Given the description of an element on the screen output the (x, y) to click on. 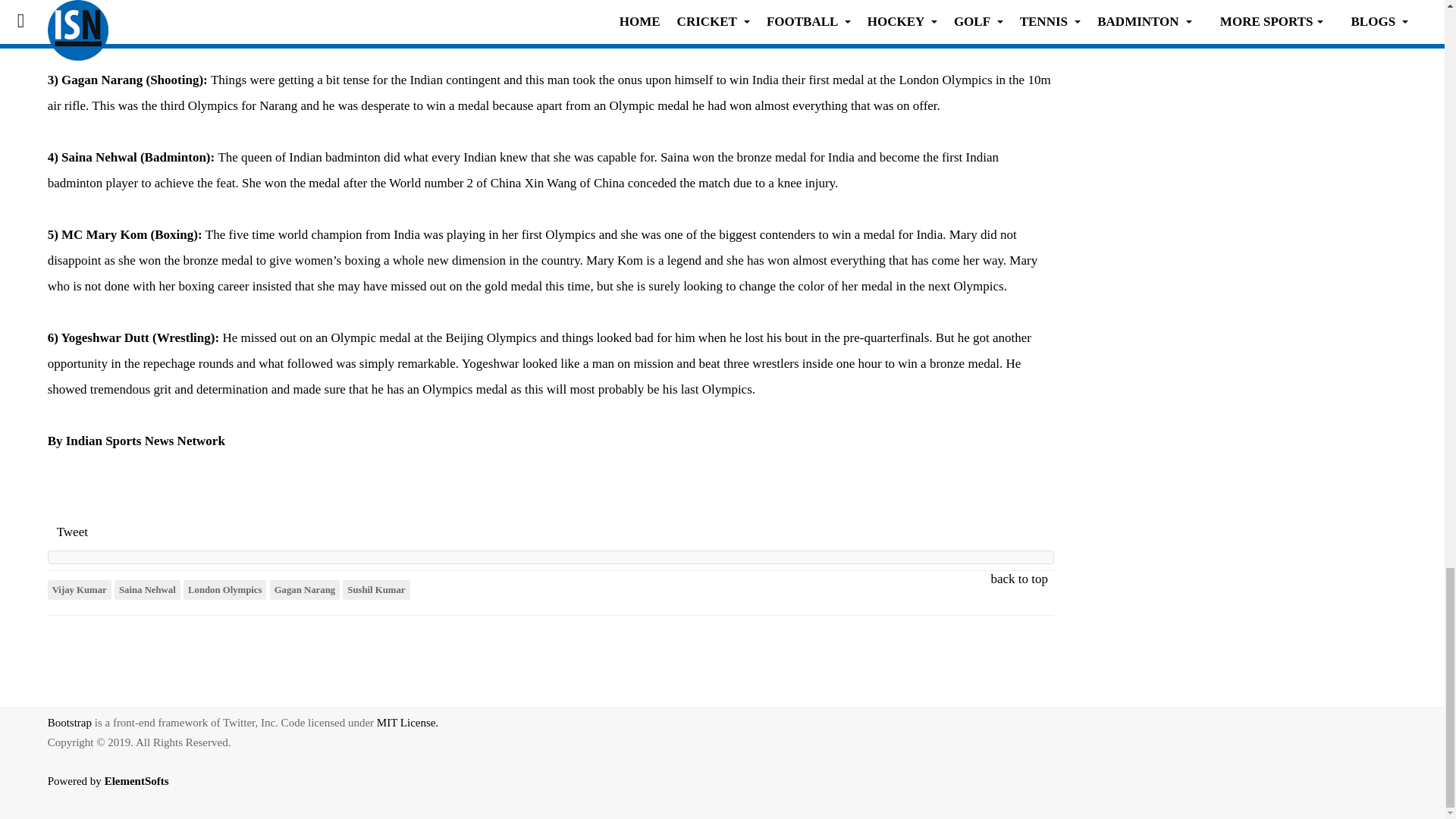
Bootstrap by Twitter (69, 722)
MIT License (407, 722)
Powered By ElementSofts (117, 792)
